Given the description of an element on the screen output the (x, y) to click on. 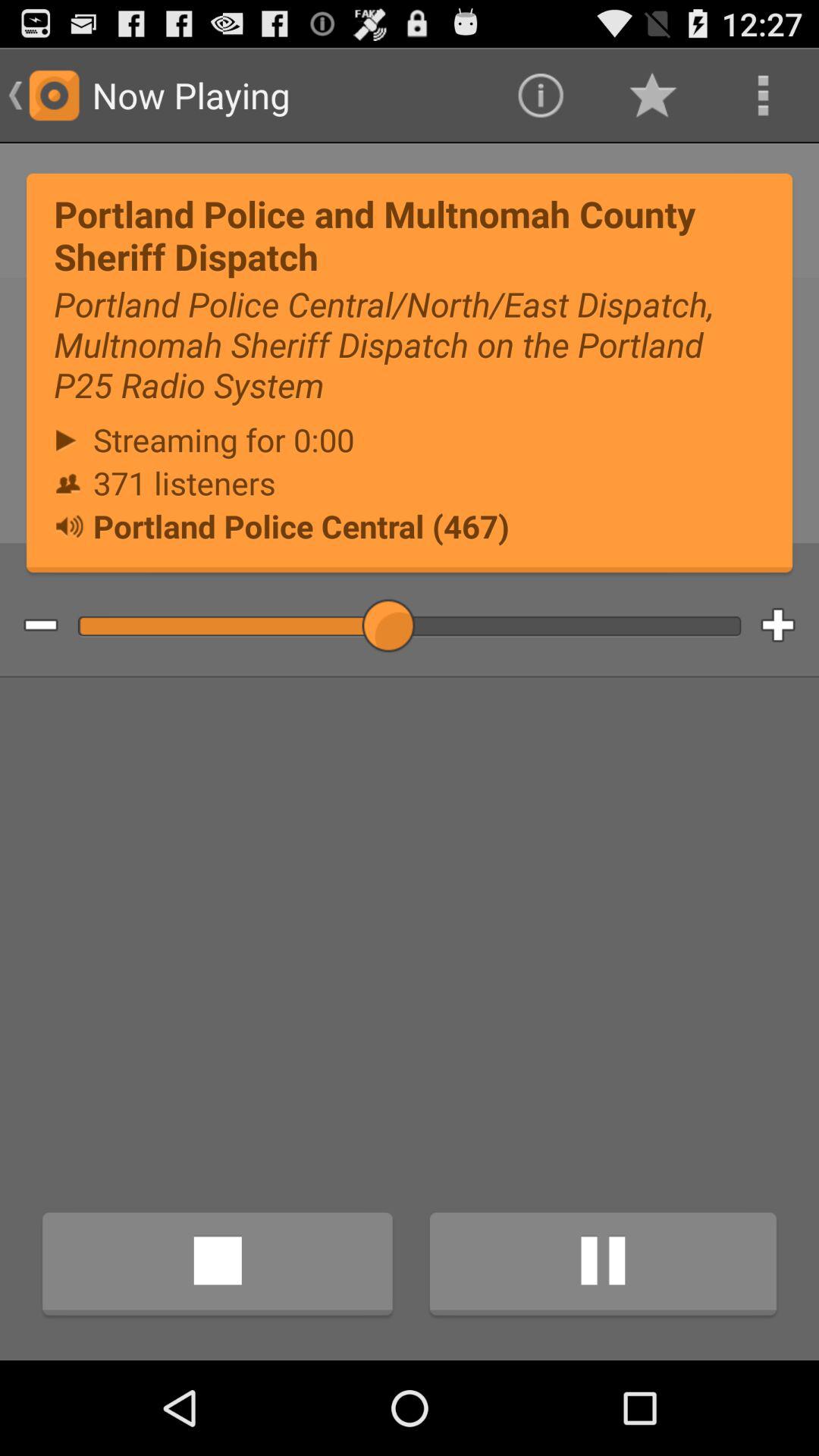
increment volume (789, 626)
